Given the description of an element on the screen output the (x, y) to click on. 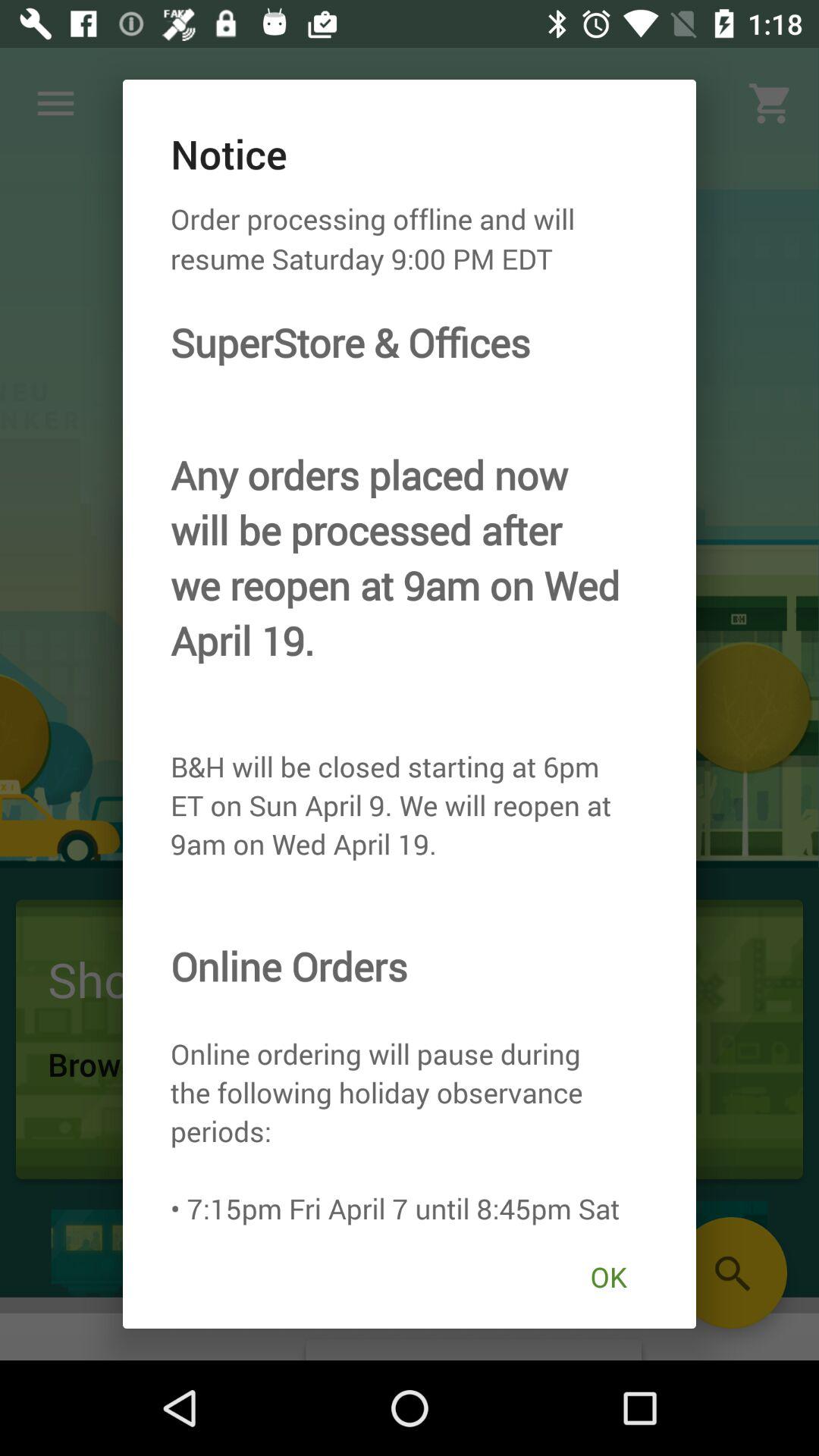
flip until the ok (608, 1276)
